Given the description of an element on the screen output the (x, y) to click on. 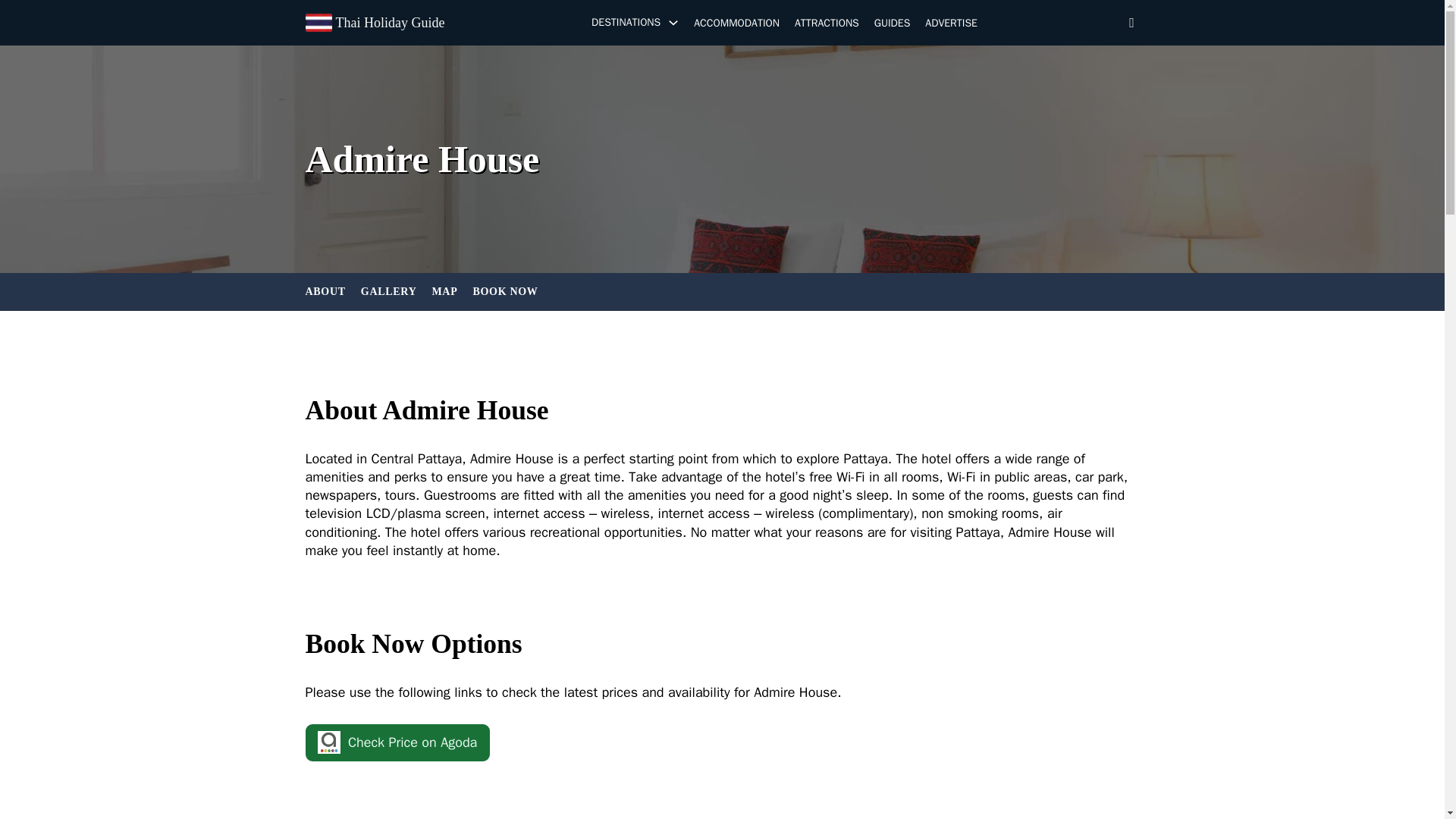
Thai Holiday Guide (389, 22)
ACCOMMODATION (736, 23)
GUIDES (893, 23)
ABOUT (324, 291)
ADVERTISE (950, 23)
ATTRACTIONS (826, 23)
